Given the description of an element on the screen output the (x, y) to click on. 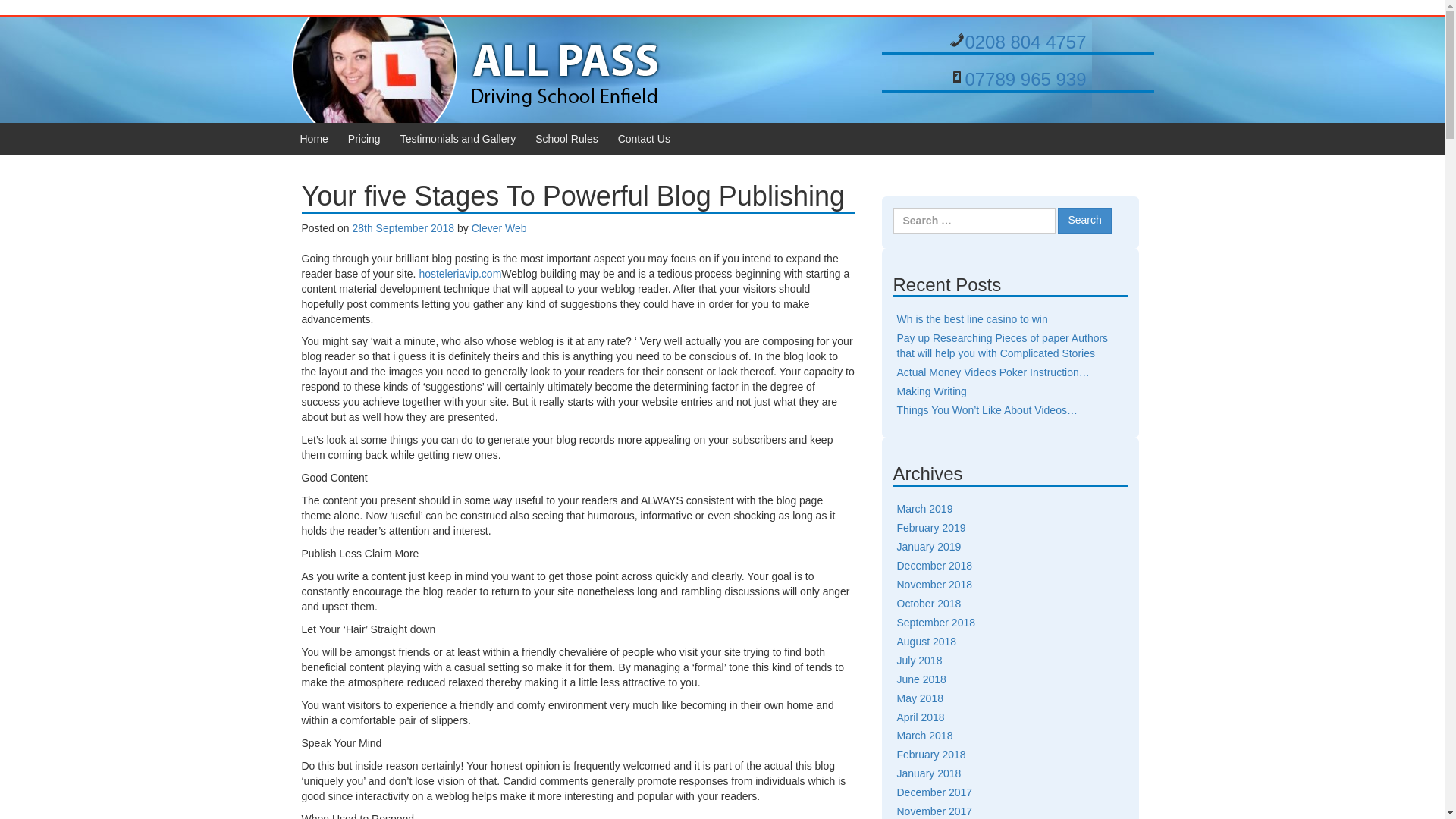
January 2019 (928, 546)
April 2018 (919, 717)
3:07 pm (403, 227)
November 2017 (934, 811)
28th September 2018 (403, 227)
December 2018 (934, 565)
Skip to content (34, 22)
Search (1084, 220)
December 2017 (934, 792)
